Given the description of an element on the screen output the (x, y) to click on. 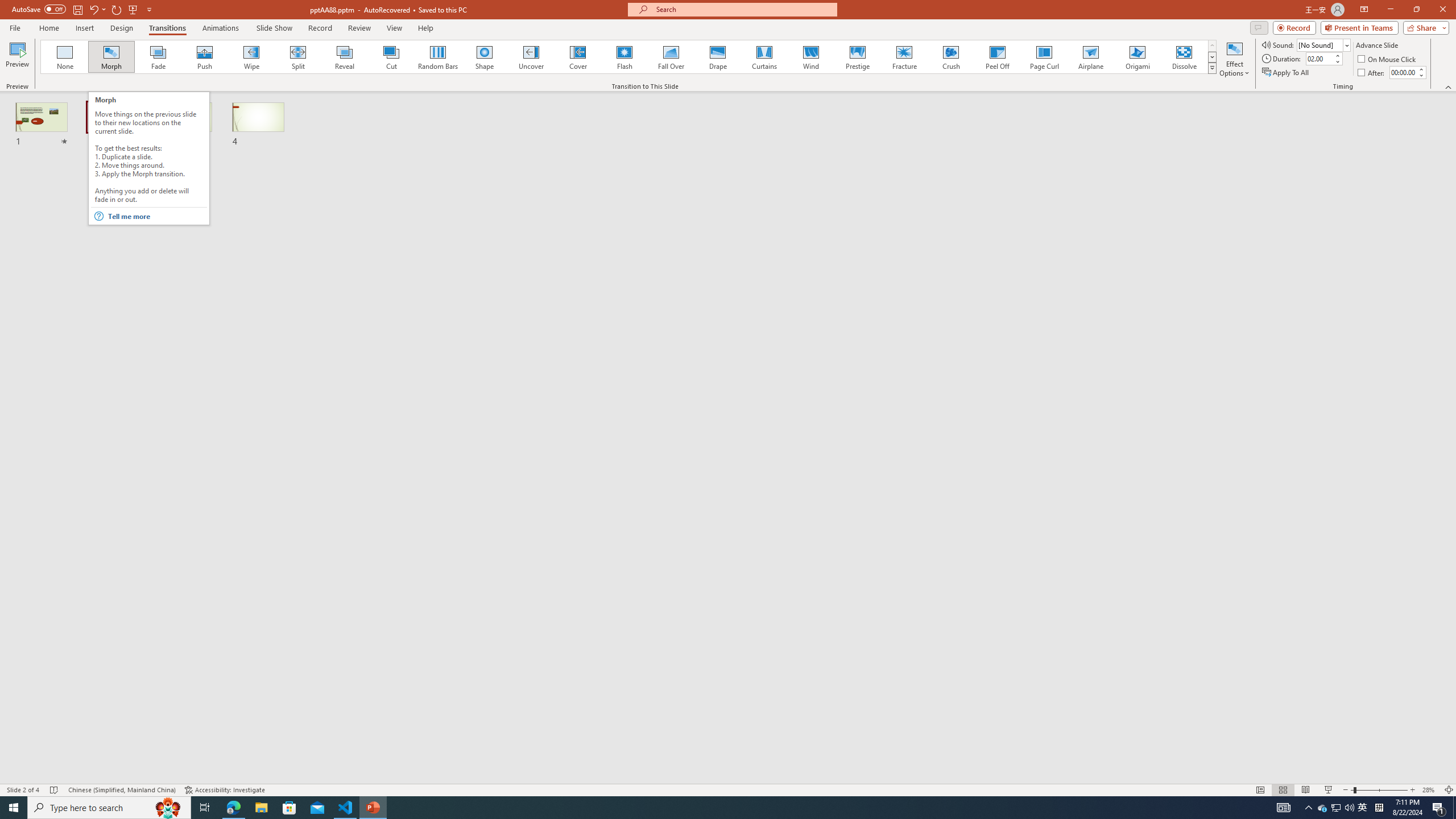
Peel Off (997, 56)
